Given the description of an element on the screen output the (x, y) to click on. 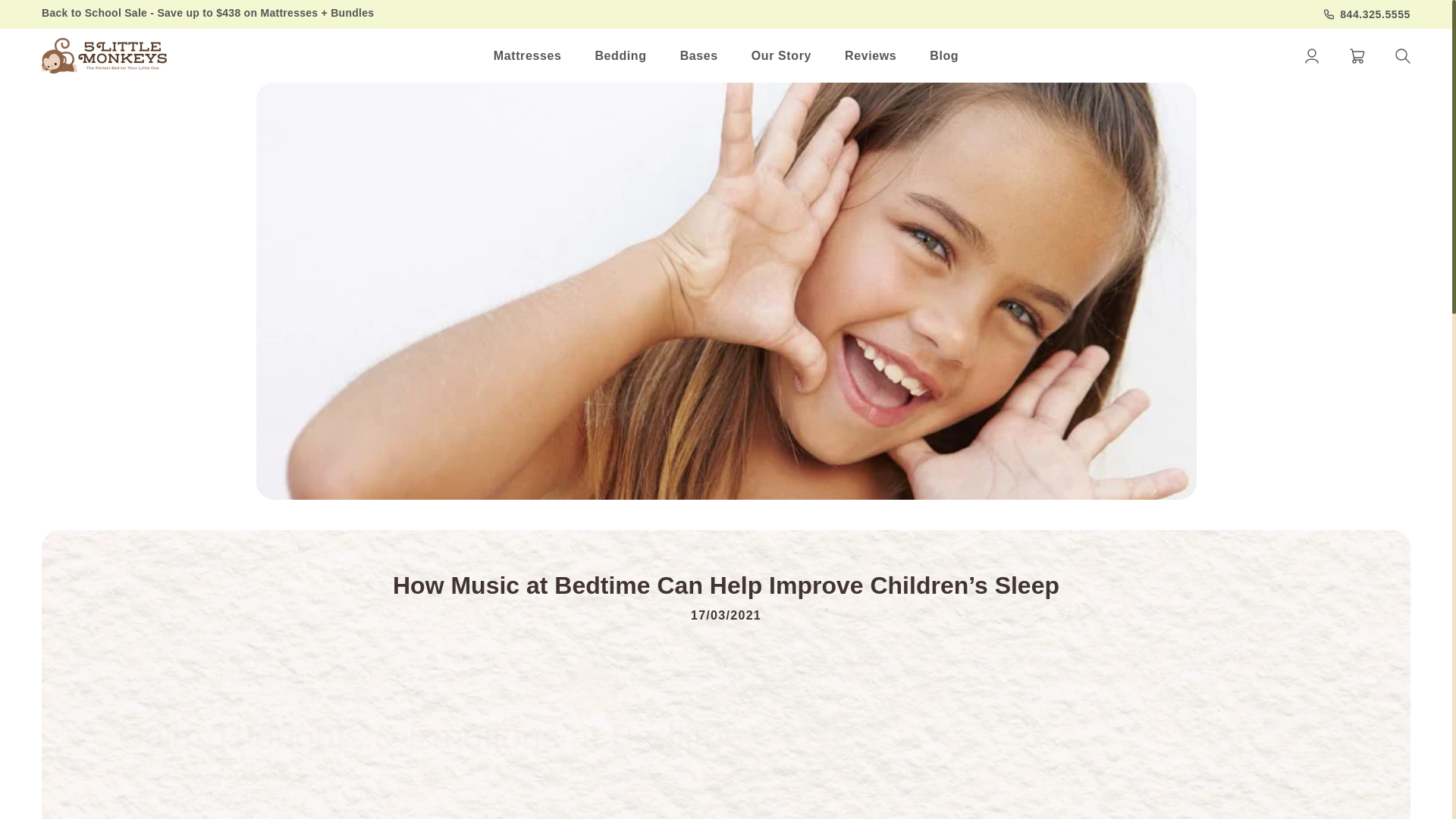
Cart (1357, 55)
Blog (943, 55)
Our Story (781, 55)
Skip to content (45, 10)
Reviews (870, 55)
844.325.5555 (1366, 13)
Bases (699, 55)
Mattresses (527, 55)
Bedding (620, 55)
Log in (1311, 55)
